Given the description of an element on the screen output the (x, y) to click on. 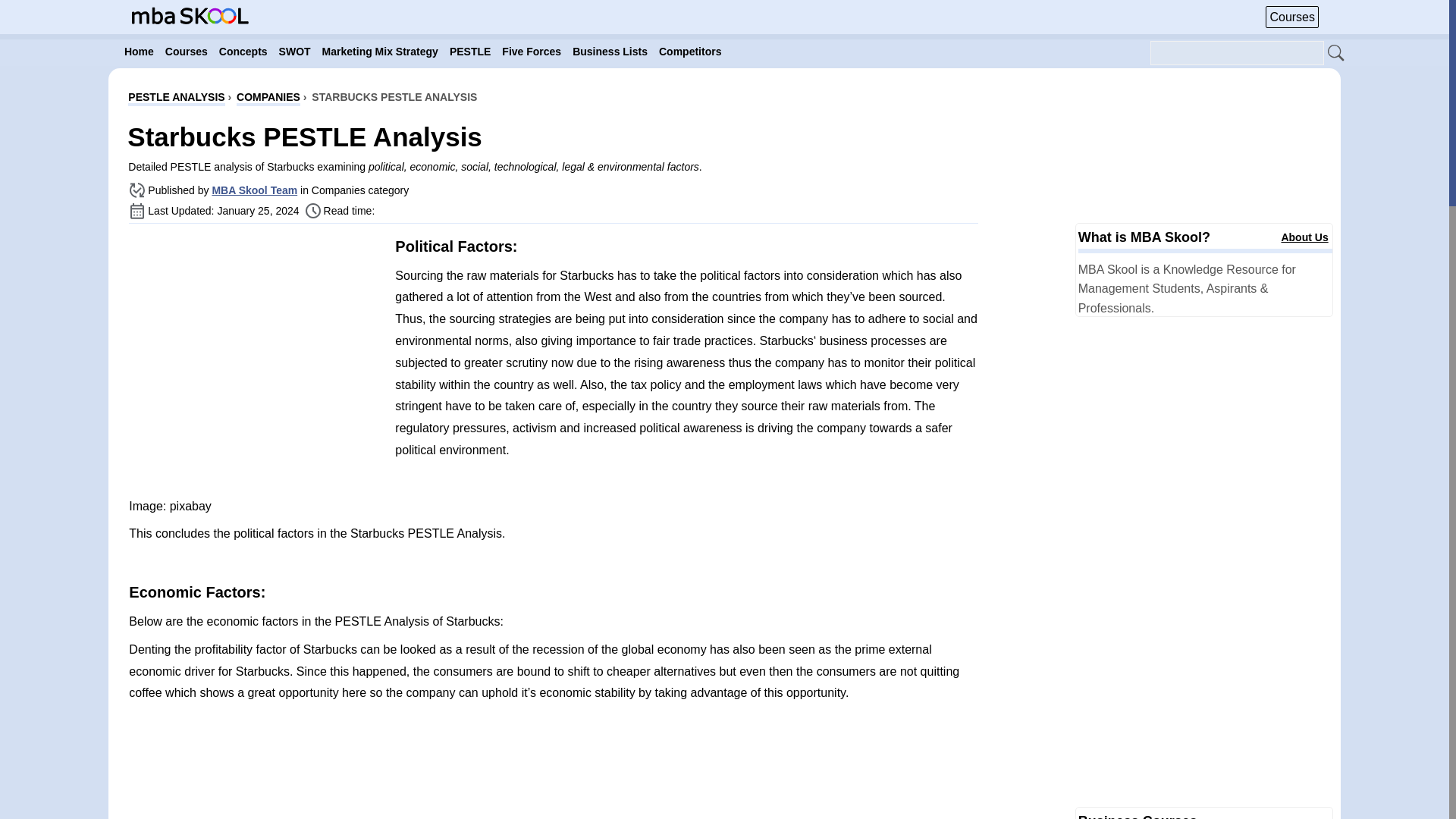
About Us (1304, 236)
COMPANIES (267, 98)
Competitors (689, 52)
Business Lists (609, 52)
MBA Skool (189, 15)
Concepts (242, 52)
Courses (1292, 16)
SWOT (295, 52)
Courses (186, 52)
MBA Skool Team (254, 190)
